Given the description of an element on the screen output the (x, y) to click on. 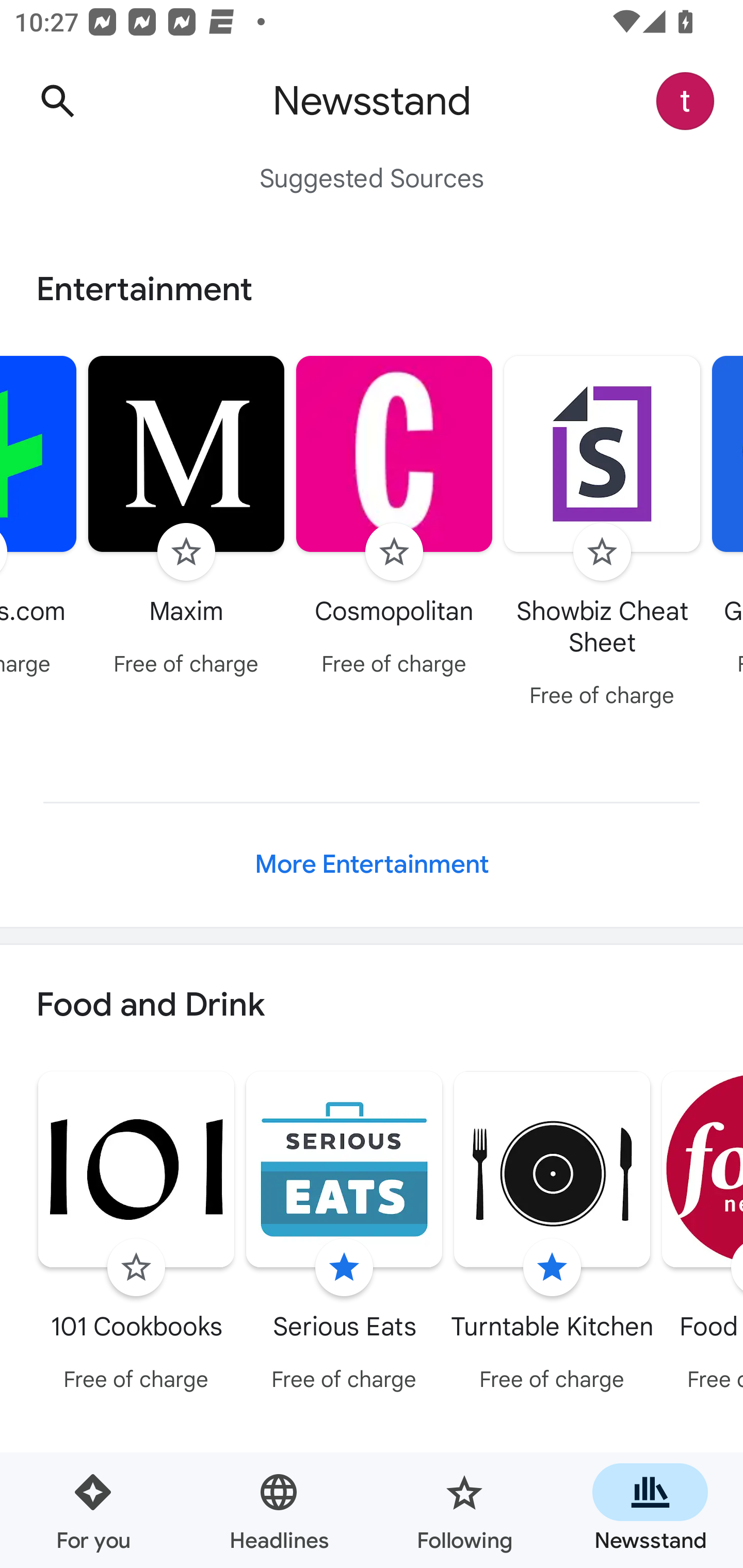
Search (57, 100)
Entertainment (371, 288)
Follow Maxim Free of charge (186, 517)
Follow Cosmopolitan Free of charge (394, 517)
Follow Showbiz Cheat Sheet Free of charge (602, 534)
Follow (186, 551)
Follow (393, 551)
Follow (601, 551)
More Entertainment (371, 864)
Food and Drink (371, 1005)
Follow 101 Cookbooks Free of charge (136, 1234)
Unfollow Serious Eats Free of charge (344, 1234)
Unfollow Turntable Kitchen Free of charge (552, 1234)
Follow (135, 1267)
Unfollow (343, 1267)
Unfollow (552, 1267)
For you (92, 1509)
Headlines (278, 1509)
Following (464, 1509)
Newsstand (650, 1509)
